Given the description of an element on the screen output the (x, y) to click on. 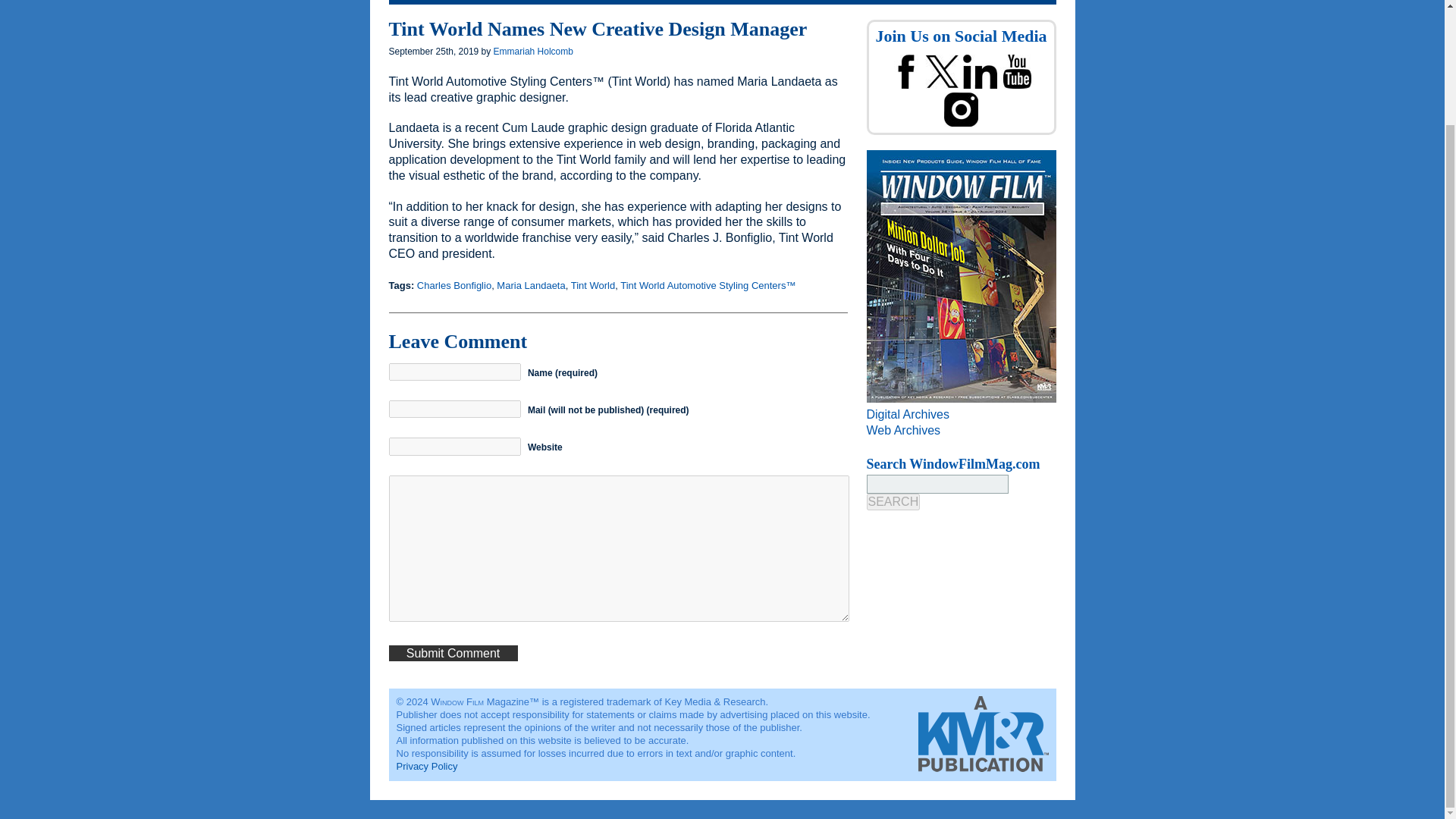
Hall of Fame (916, 2)
Editorial (650, 2)
Product Info (840, 2)
Emmariah Holcomb (533, 50)
Classifieds (708, 2)
Submit Comment (452, 652)
Charles Bonfiglio (454, 285)
The Studio (588, 2)
News and Events (503, 2)
Tint World (592, 285)
